Given the description of an element on the screen output the (x, y) to click on. 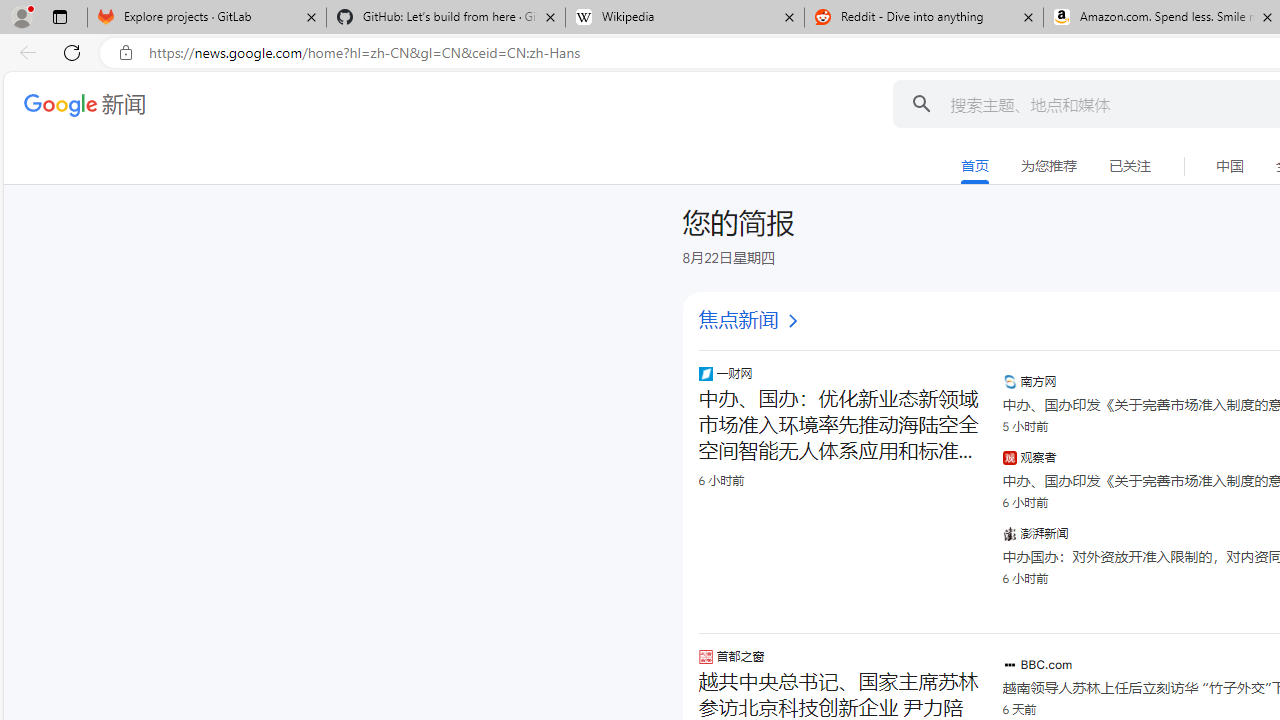
AutomationID: i10 (792, 321)
